Given the description of an element on the screen output the (x, y) to click on. 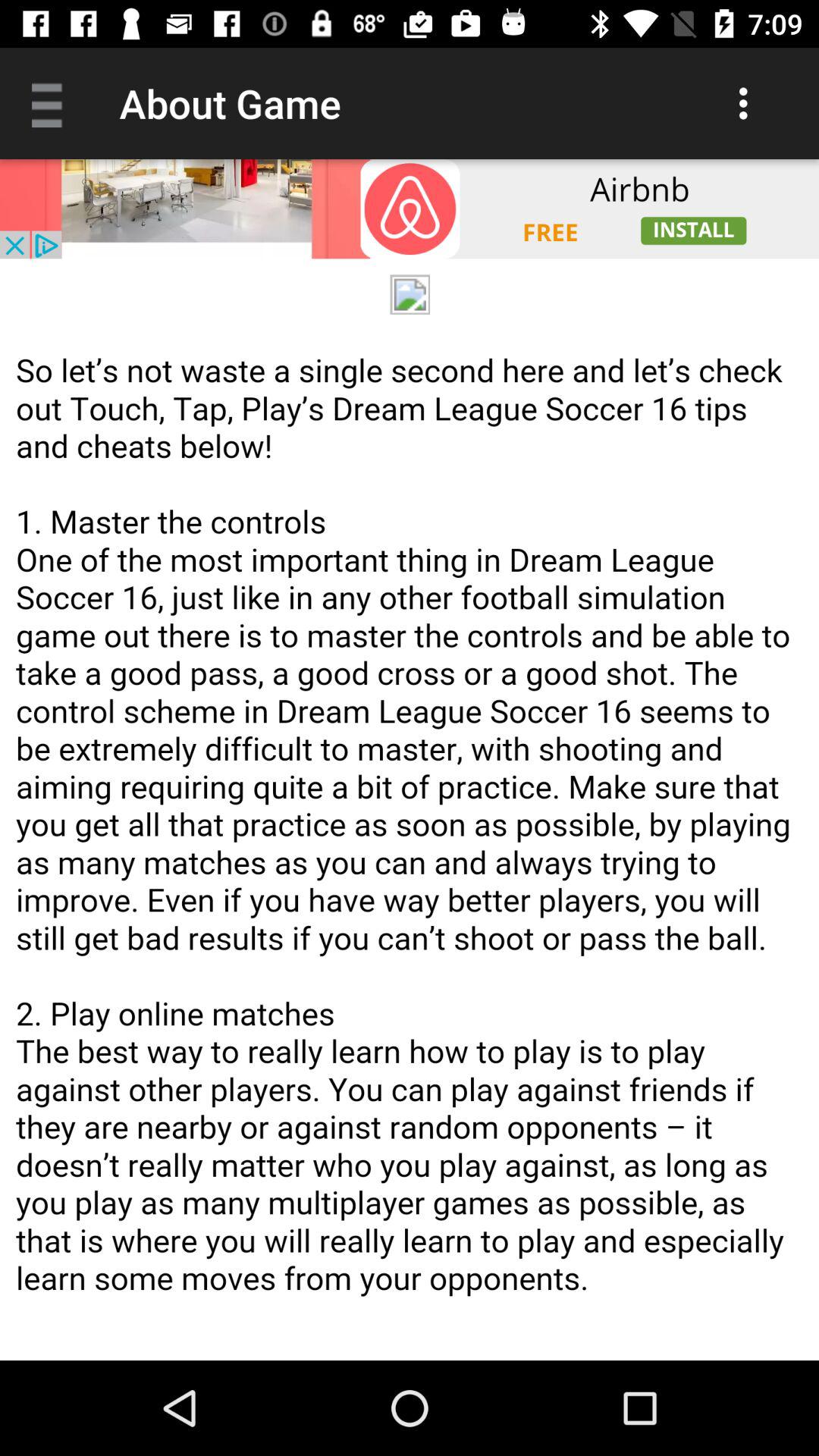
open advertisement (409, 208)
